Given the description of an element on the screen output the (x, y) to click on. 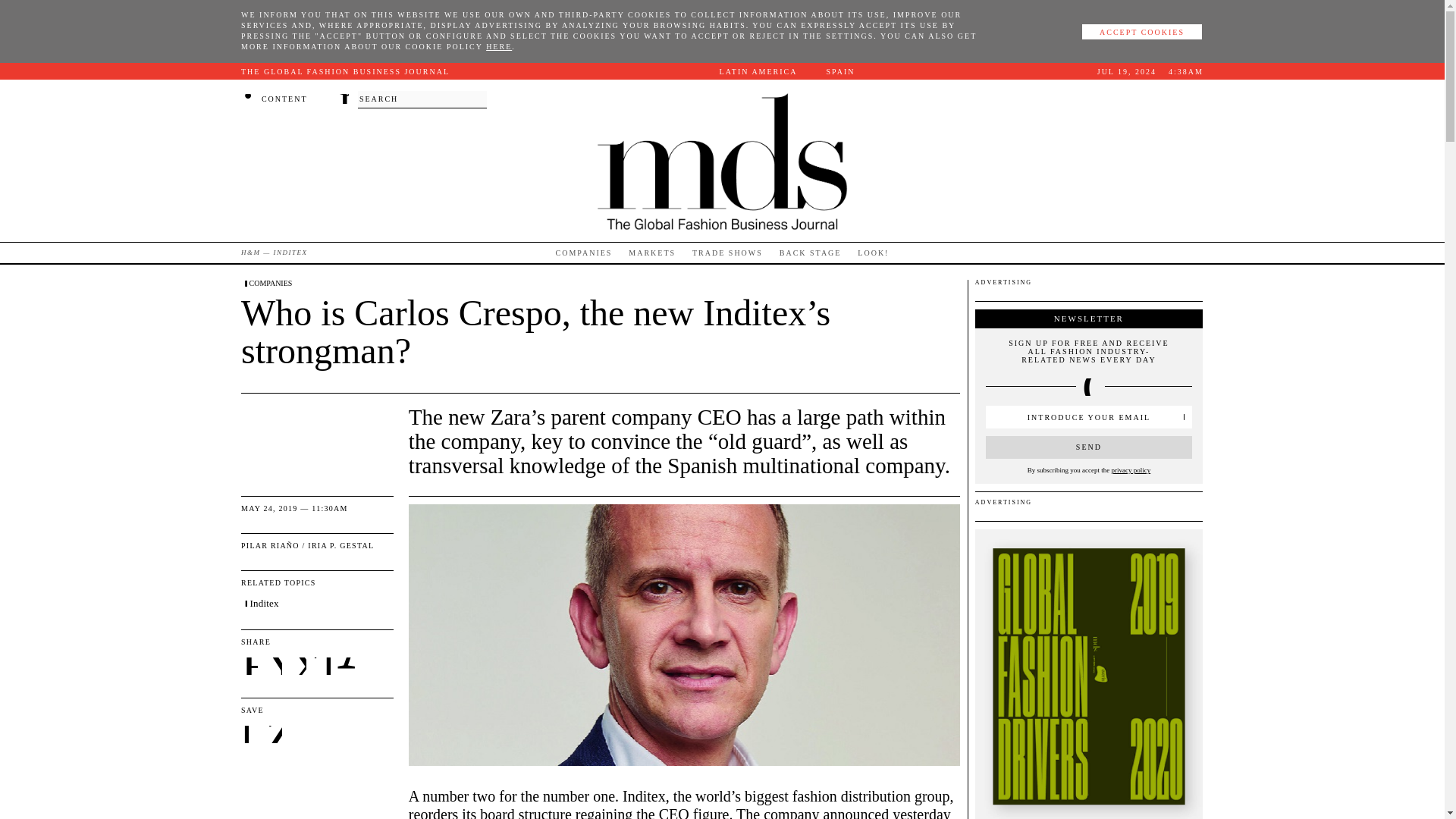
h COMPANIES (266, 283)
INDITEX (290, 252)
HERE (499, 46)
T (323, 666)
Y (273, 666)
privacy policy (1130, 470)
X (298, 666)
SPAIN (839, 71)
A (346, 665)
SEND (1088, 446)
LATIN AMERICA (759, 71)
E (250, 666)
LOOK! (872, 252)
COMPANIES (584, 252)
; CONTENT (273, 99)
